Given the description of an element on the screen output the (x, y) to click on. 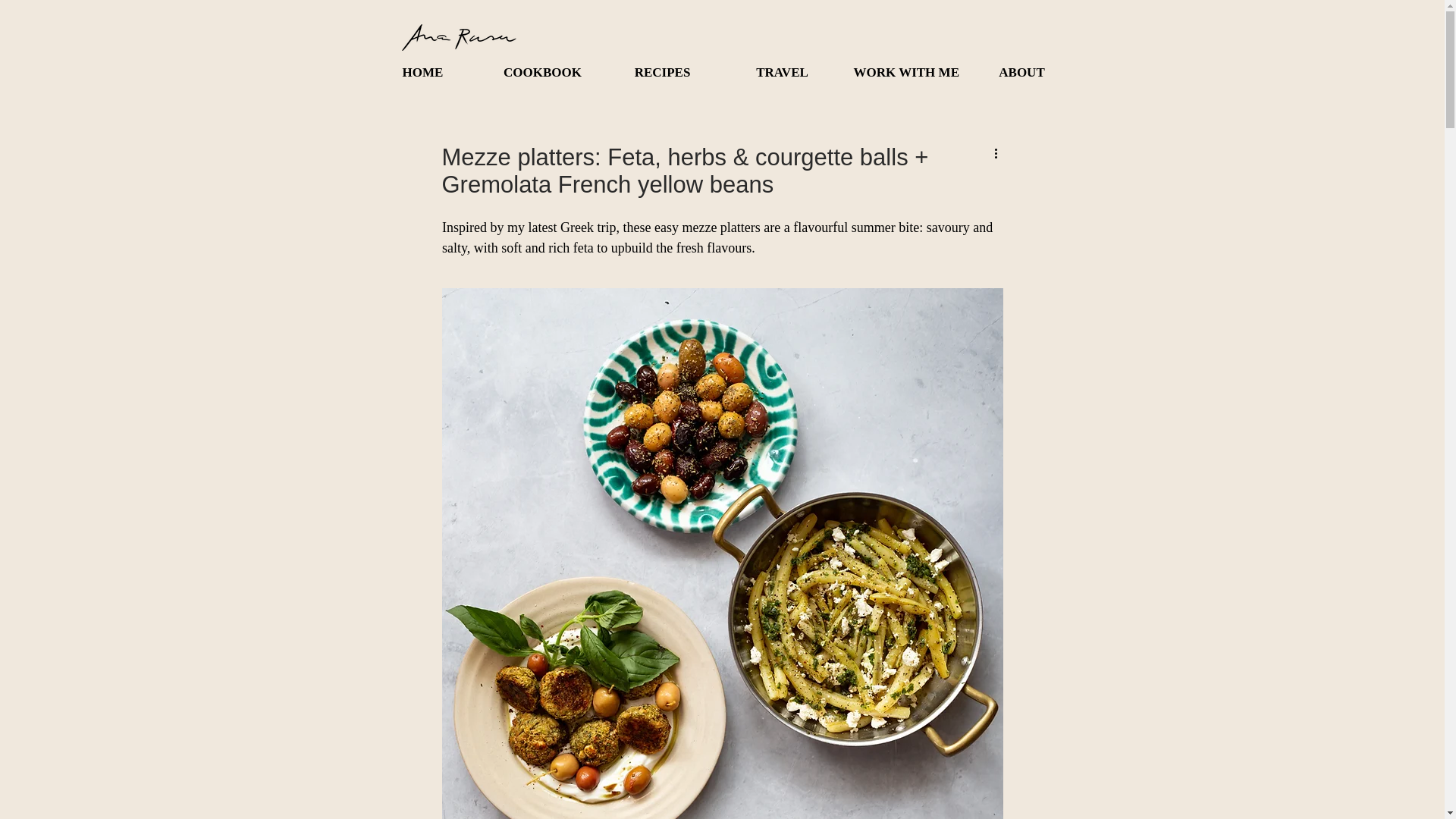
TRAVEL (781, 72)
COOKBOOK (541, 72)
HOME (421, 72)
